Given the description of an element on the screen output the (x, y) to click on. 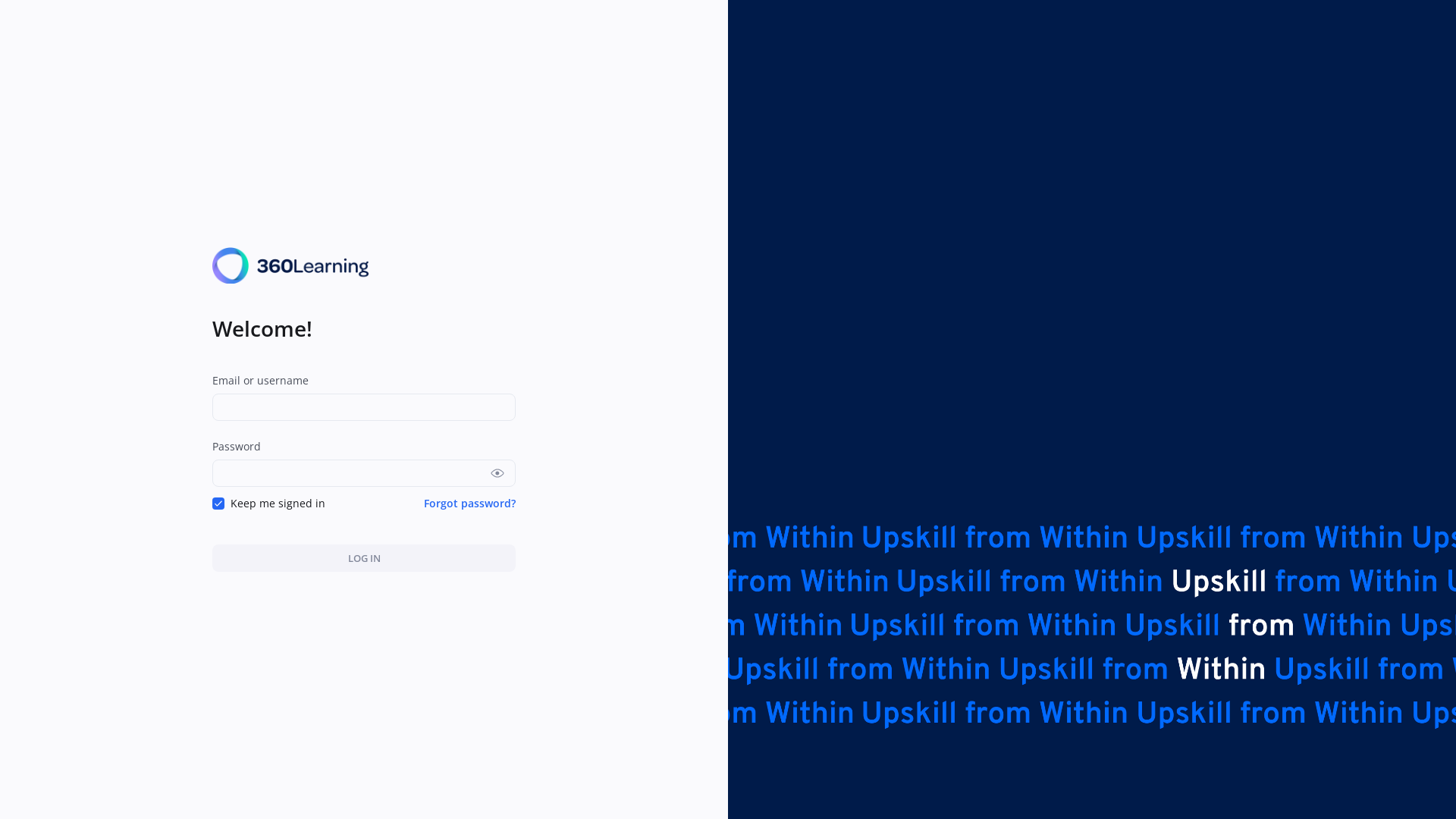
Forgot password? Element type: text (469, 502)
LOG IN Element type: text (363, 557)
